Given the description of an element on the screen output the (x, y) to click on. 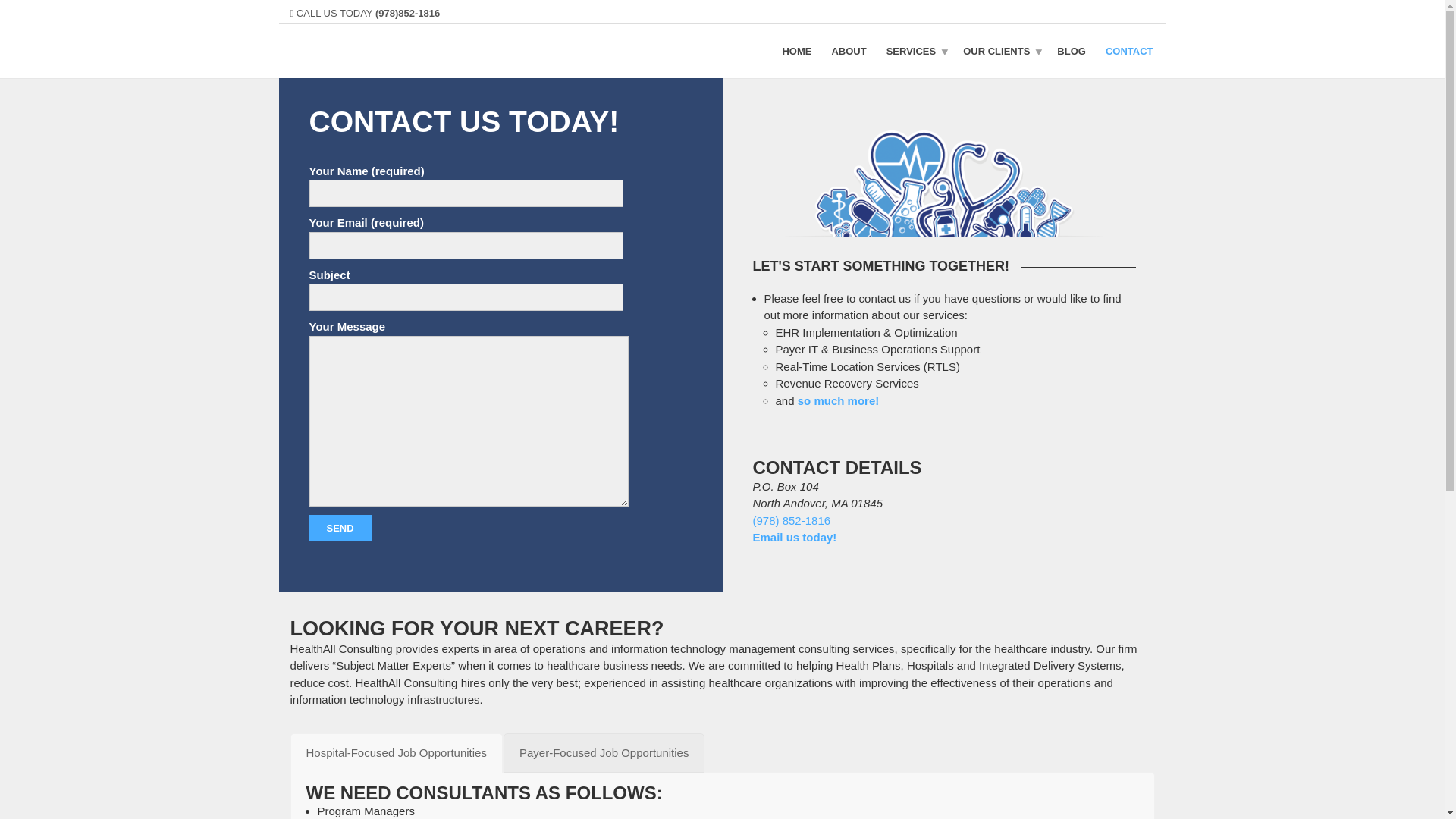
Services (914, 50)
Blog (1071, 50)
ABOUT (848, 50)
Send (339, 528)
SERVICES (914, 50)
Home (796, 50)
About (848, 50)
OUR CLIENTS (999, 50)
so much more! (838, 400)
Payer-Focused Job Opportunities (603, 753)
Our Clients (999, 50)
BLOG (1071, 50)
Send (339, 528)
CONTACT (1129, 50)
Email us today! (793, 536)
